Given the description of an element on the screen output the (x, y) to click on. 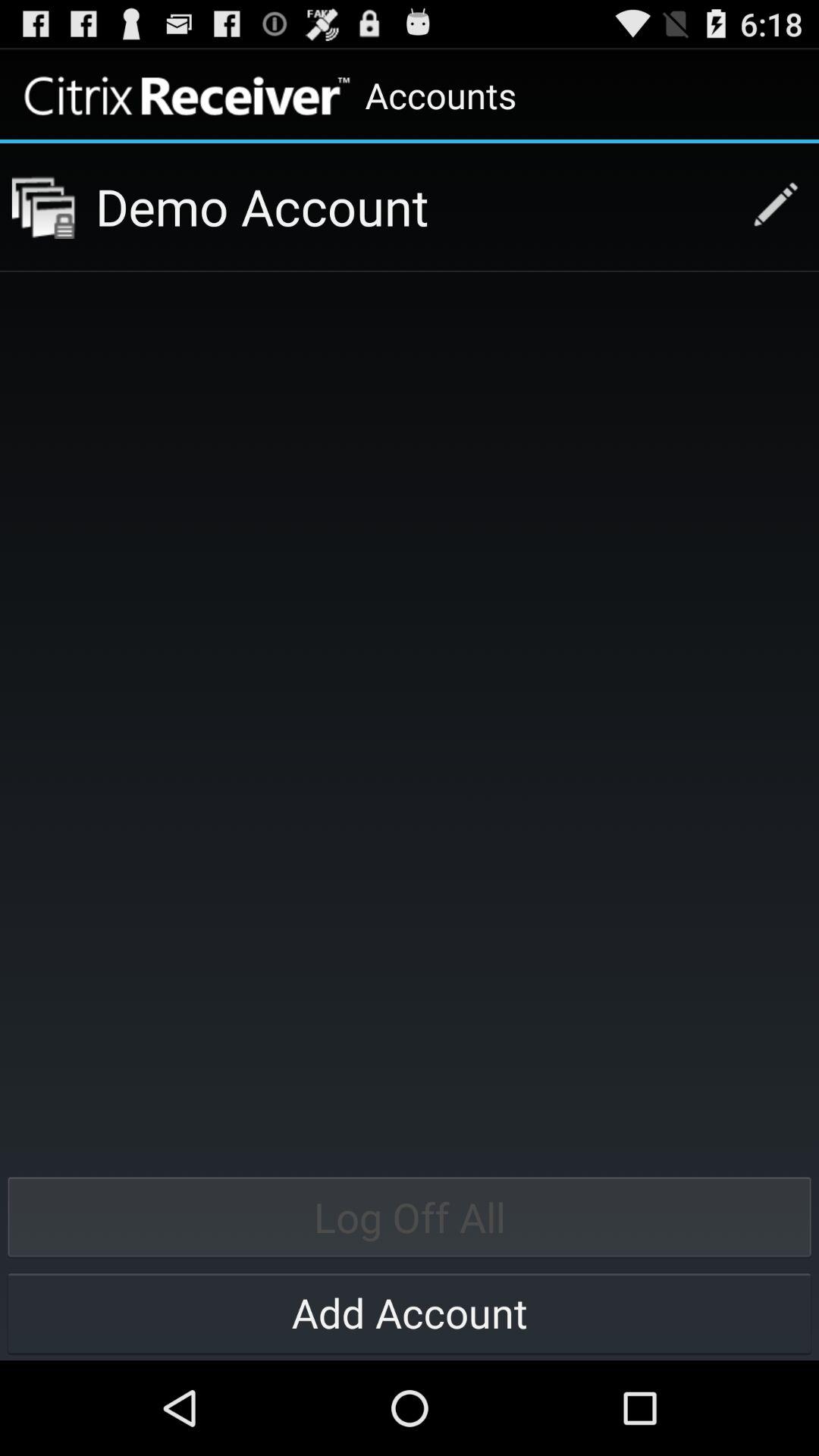
writting (768, 206)
